Given the description of an element on the screen output the (x, y) to click on. 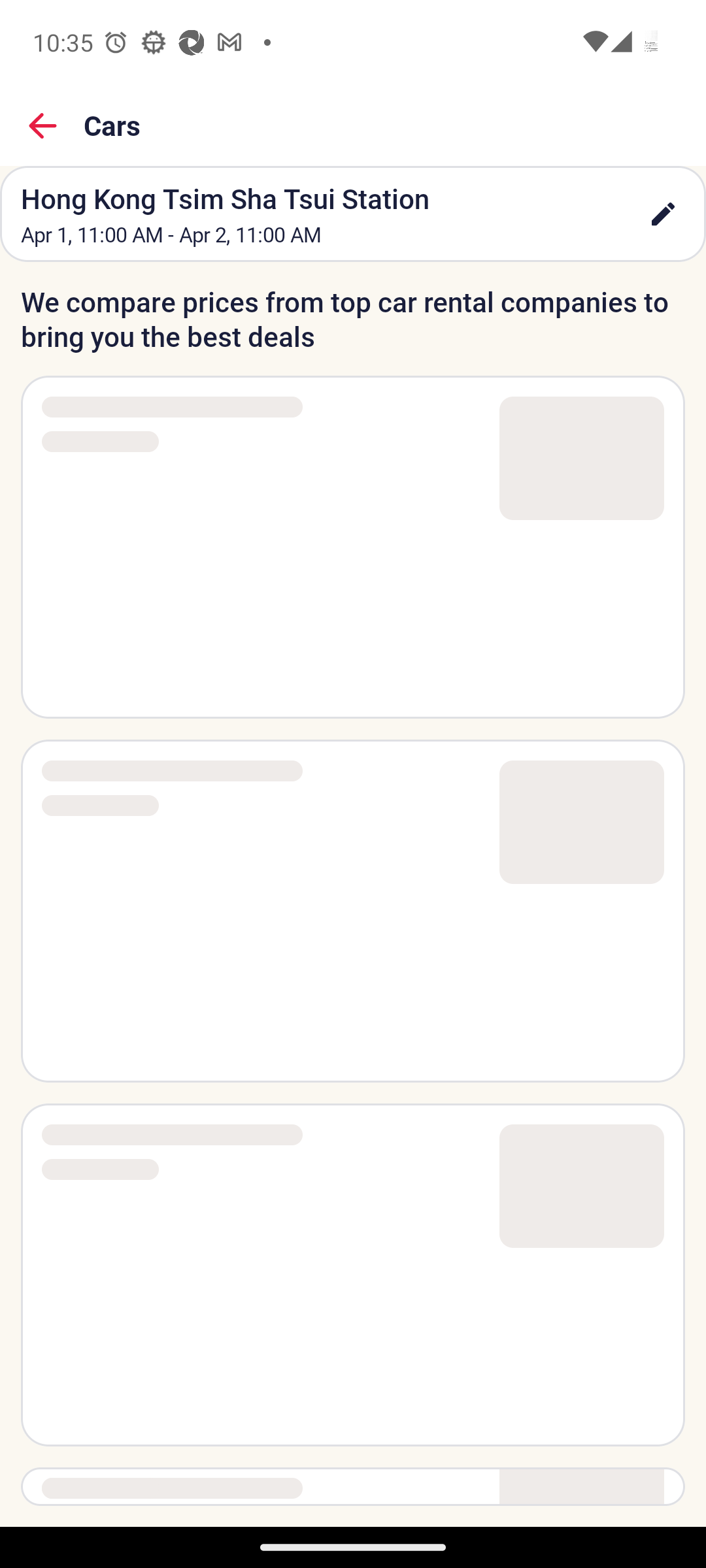
Back (43, 125)
edit (662, 213)
